Given the description of an element on the screen output the (x, y) to click on. 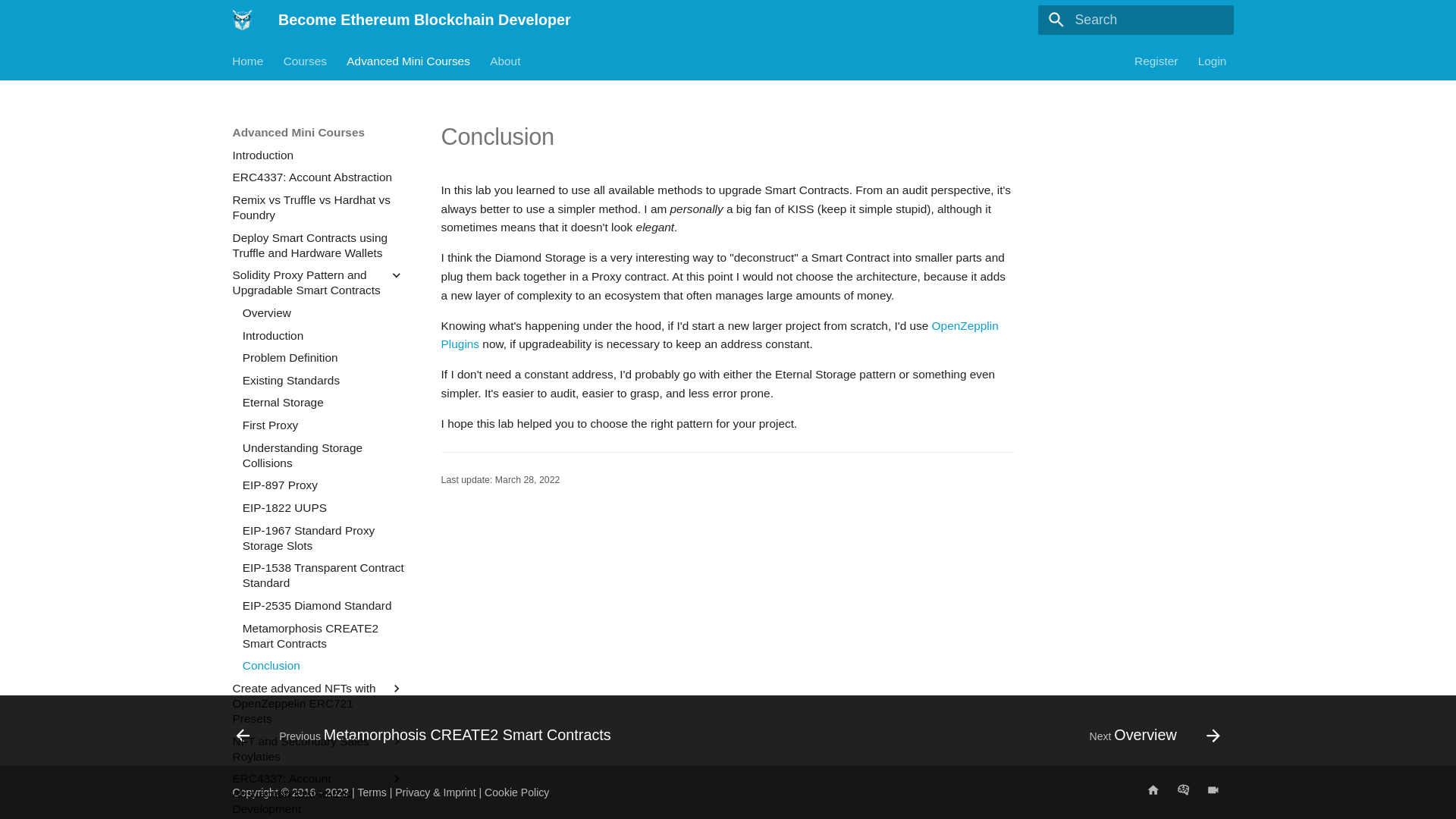
vomtom.at (1183, 791)
ethereum-blockchain-developer.com (1153, 791)
Courses (304, 60)
Login (1212, 60)
thinkingassets.com (1213, 791)
Advanced Mini Courses (408, 60)
About (505, 60)
Become Ethereum Blockchain Developer (242, 19)
Home (247, 60)
Register (1155, 60)
